Given the description of an element on the screen output the (x, y) to click on. 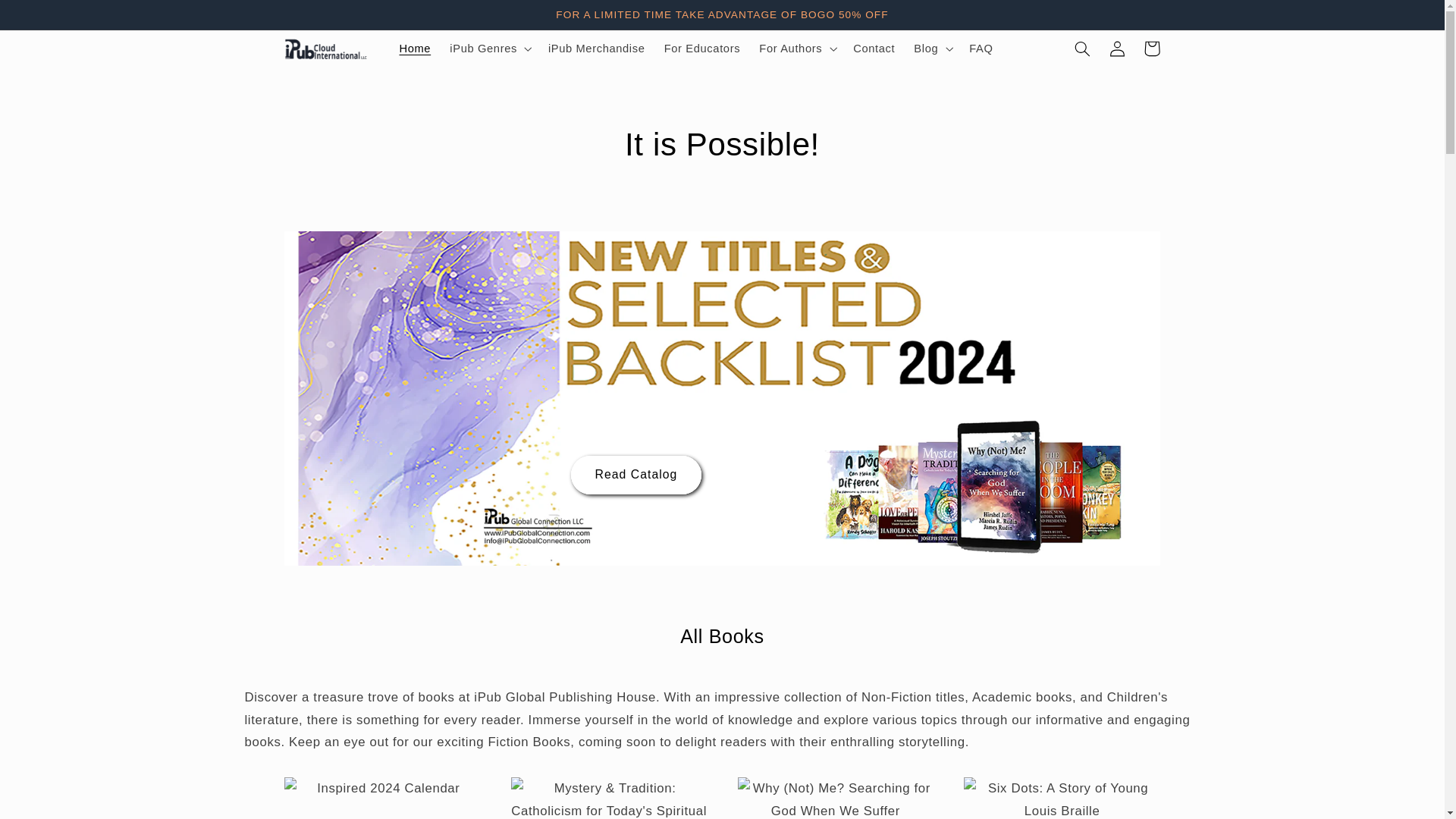
FAQ (981, 48)
Log in (1116, 48)
Home (415, 48)
Skip to content (48, 18)
Contact (874, 48)
For Educators (701, 48)
Cart (1151, 48)
iPub Merchandise (595, 48)
